Given the description of an element on the screen output the (x, y) to click on. 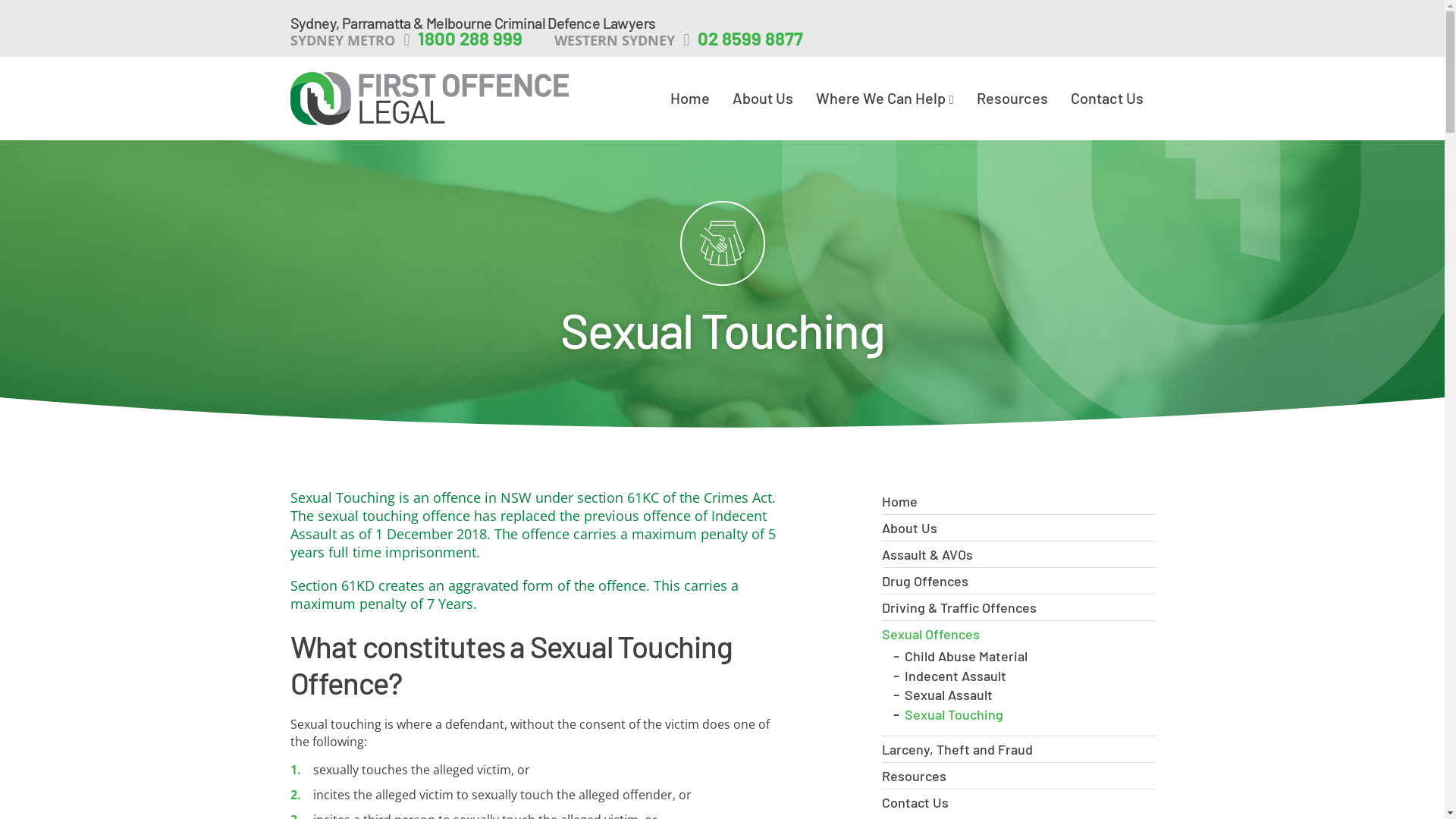
Resources Element type: text (1017, 775)
Driving & Traffic Offences Element type: text (1017, 607)
1800 288 999 Element type: text (472, 39)
Child Abuse Material Element type: text (964, 655)
Sexual Assault Element type: text (947, 694)
Resources Element type: text (1012, 96)
Indecent Assault Element type: text (954, 675)
Contact Us Element type: text (1106, 96)
About Us Element type: text (1017, 527)
Home Element type: text (1017, 500)
About Us Element type: text (762, 96)
Contact Us Element type: text (1017, 801)
Where We Can Help Element type: text (884, 97)
Drug Offences Element type: text (1017, 580)
Larceny, Theft and Fraud Element type: text (1017, 748)
02 8599 8877 Element type: text (753, 39)
Home Element type: text (689, 96)
Sexual Offences Element type: text (1017, 633)
Assault & AVOs Element type: text (1017, 553)
Sexual Touching Element type: text (952, 714)
